Given the description of an element on the screen output the (x, y) to click on. 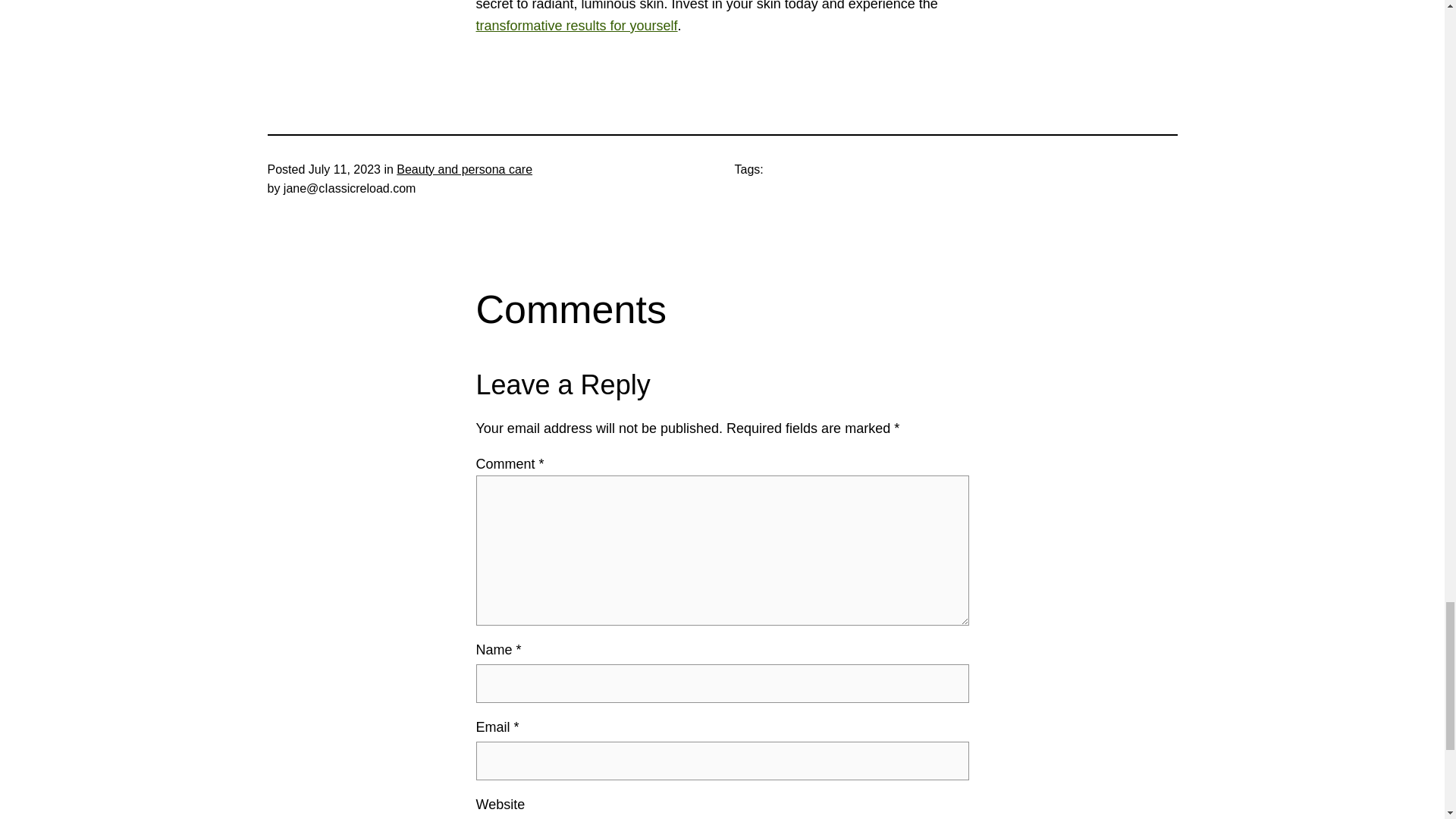
transformative results for yourself (577, 25)
Beauty and persona care (464, 169)
